Given the description of an element on the screen output the (x, y) to click on. 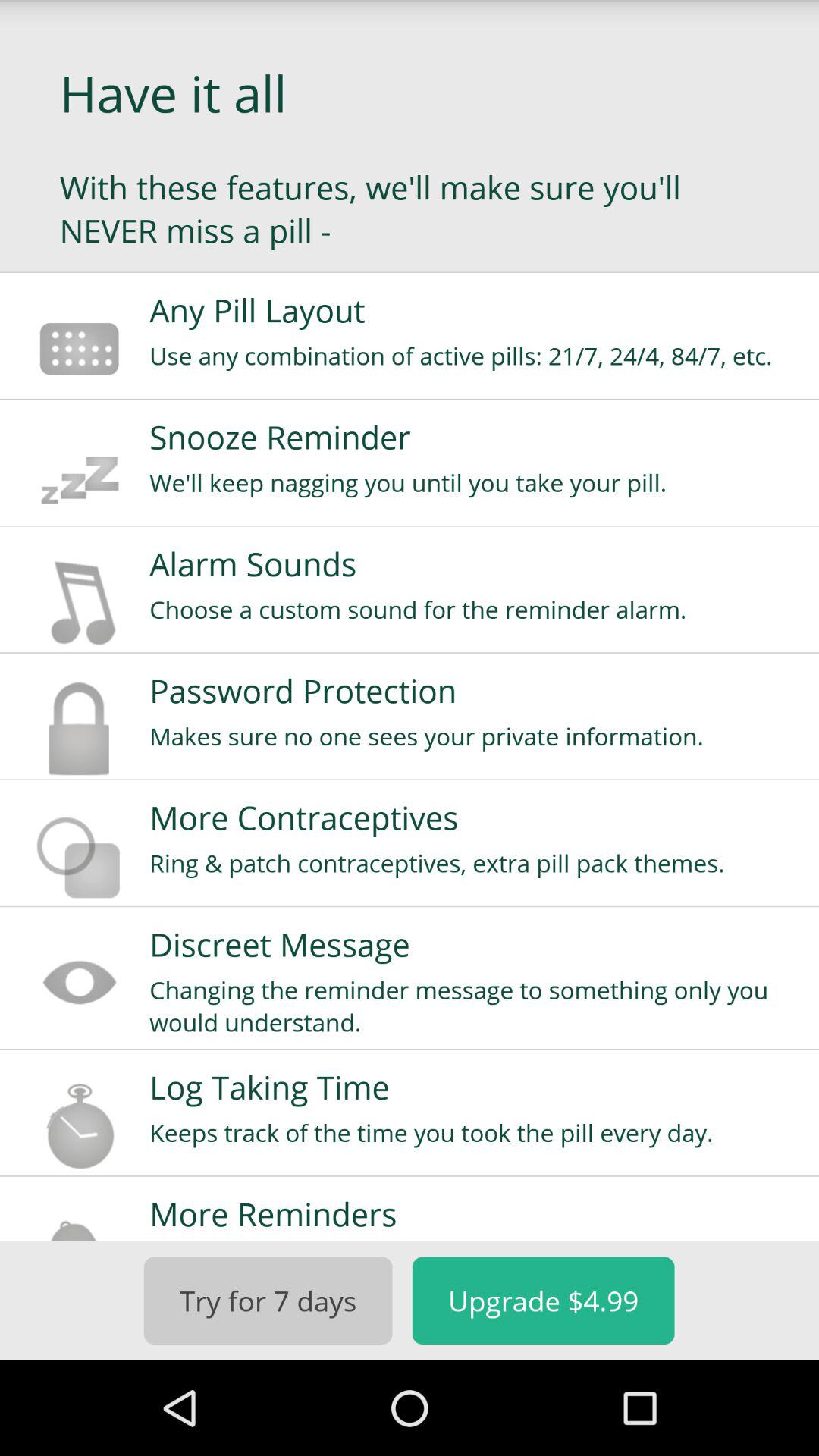
turn on the app below the makes sure no item (474, 817)
